Given the description of an element on the screen output the (x, y) to click on. 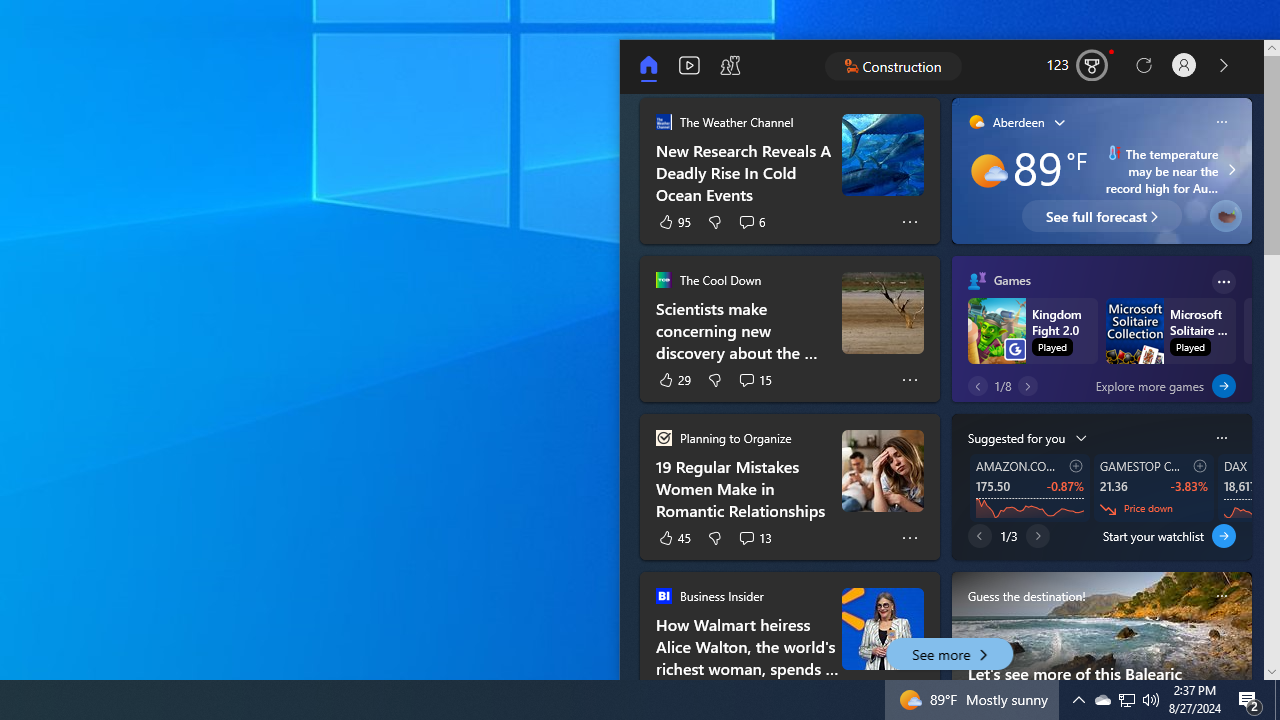
See 6 comments (751, 222)
Add to watchlist (1199, 465)
Play games (730, 65)
Next page (1037, 535)
Like (674, 538)
Previous page (979, 535)
More settings (1221, 437)
Kingdom Fight 2.0Kingdom Fight 2.0 Played Play (1036, 331)
Aberdeen (1005, 121)
Microsoft Rewards (1079, 65)
Weather Location List (1059, 120)
See 13 comments (754, 538)
